Given the description of an element on the screen output the (x, y) to click on. 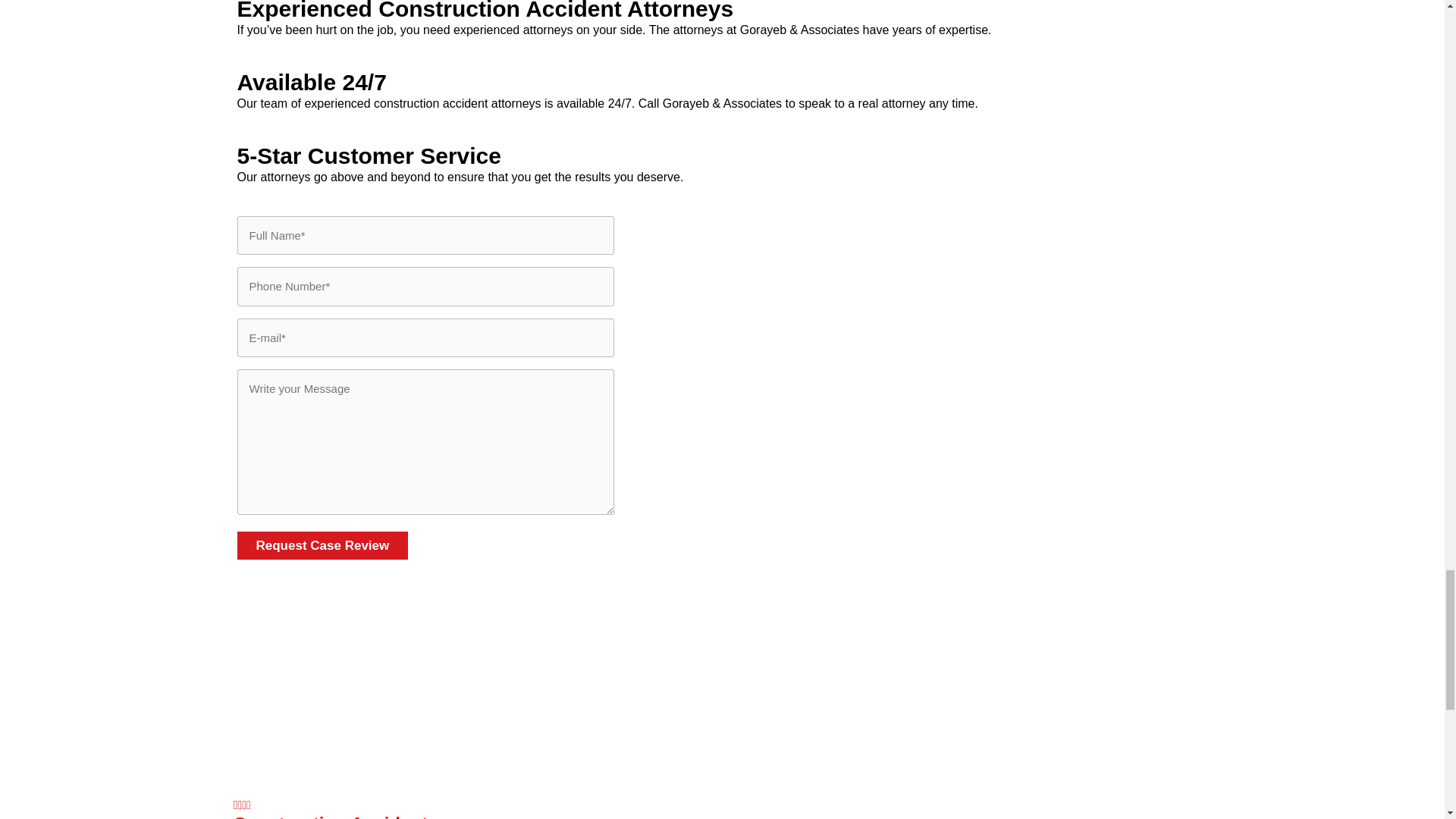
Request Case Review (321, 545)
